Given the description of an element on the screen output the (x, y) to click on. 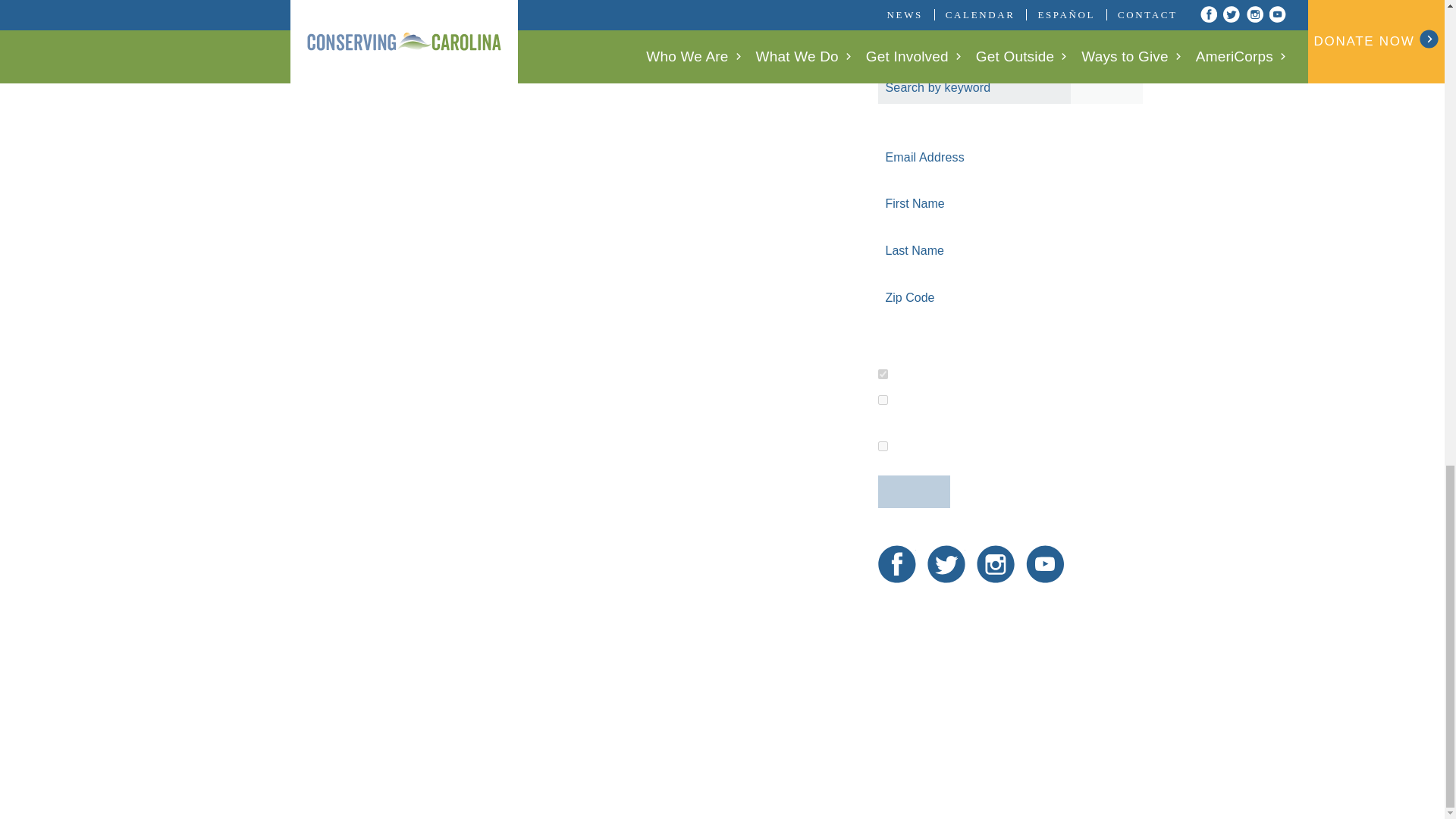
Search (1106, 87)
Visit Conserving Carolina on Facebook (896, 564)
Visit Conserving Carolina on YouTube (1045, 564)
Search for: (1009, 87)
Search (1106, 87)
SUBSCRIBE (913, 491)
c3fd32a0-b885-11e5-855a-d4ae52733d3a (882, 374)
ae981700-183f-11e9-858d-d4ae529a848a (882, 446)
bf404fa0-183f-11e9-858d-d4ae529a848a (882, 399)
Visit Conserving Carolina on Instagram (995, 564)
